Given the description of an element on the screen output the (x, y) to click on. 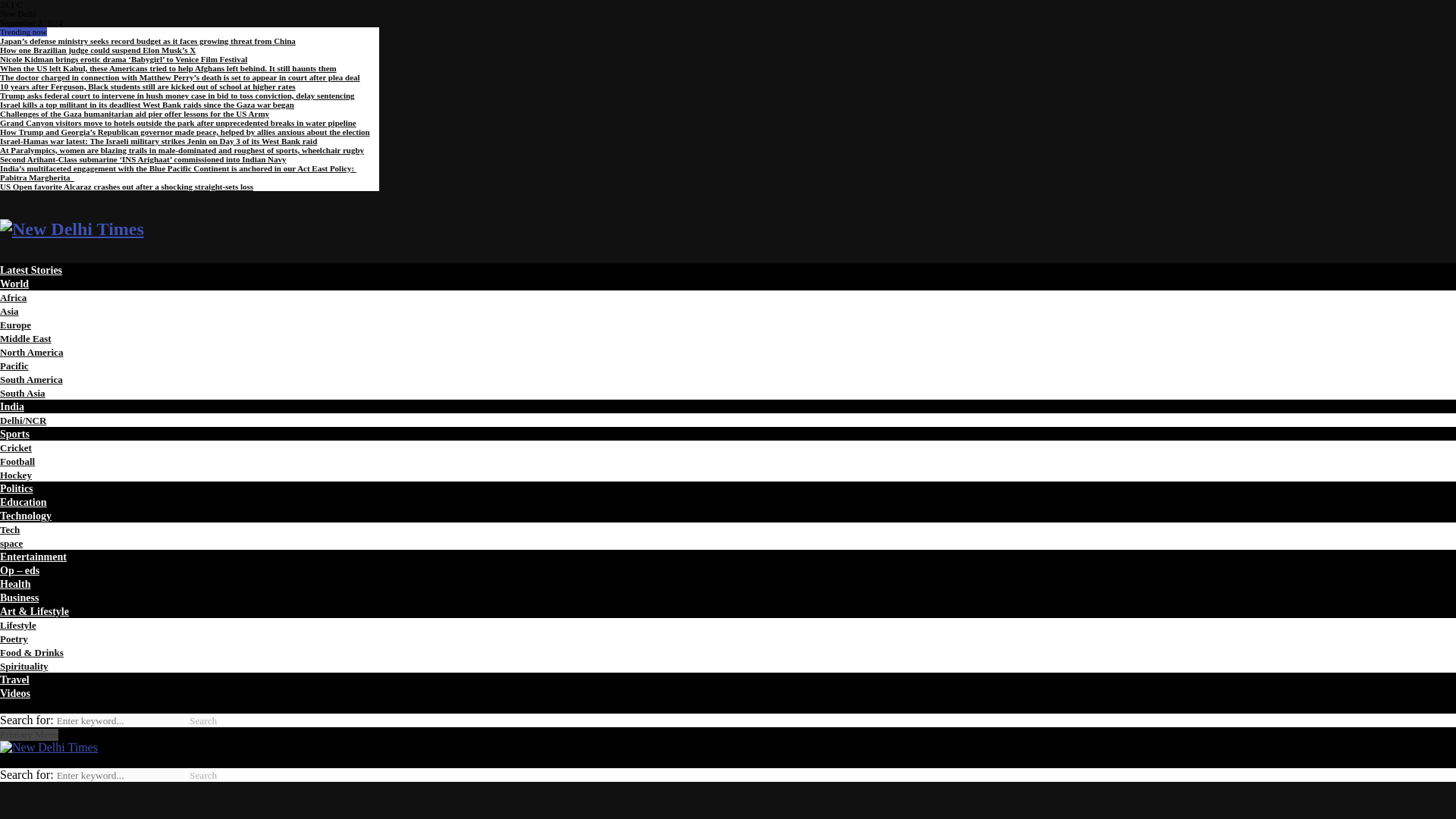
Email (157, 194)
Instagram (72, 194)
Youtube (133, 194)
World (14, 283)
Africa (13, 297)
Facebook (16, 194)
India (12, 406)
Cricket (16, 447)
